Given the description of an element on the screen output the (x, y) to click on. 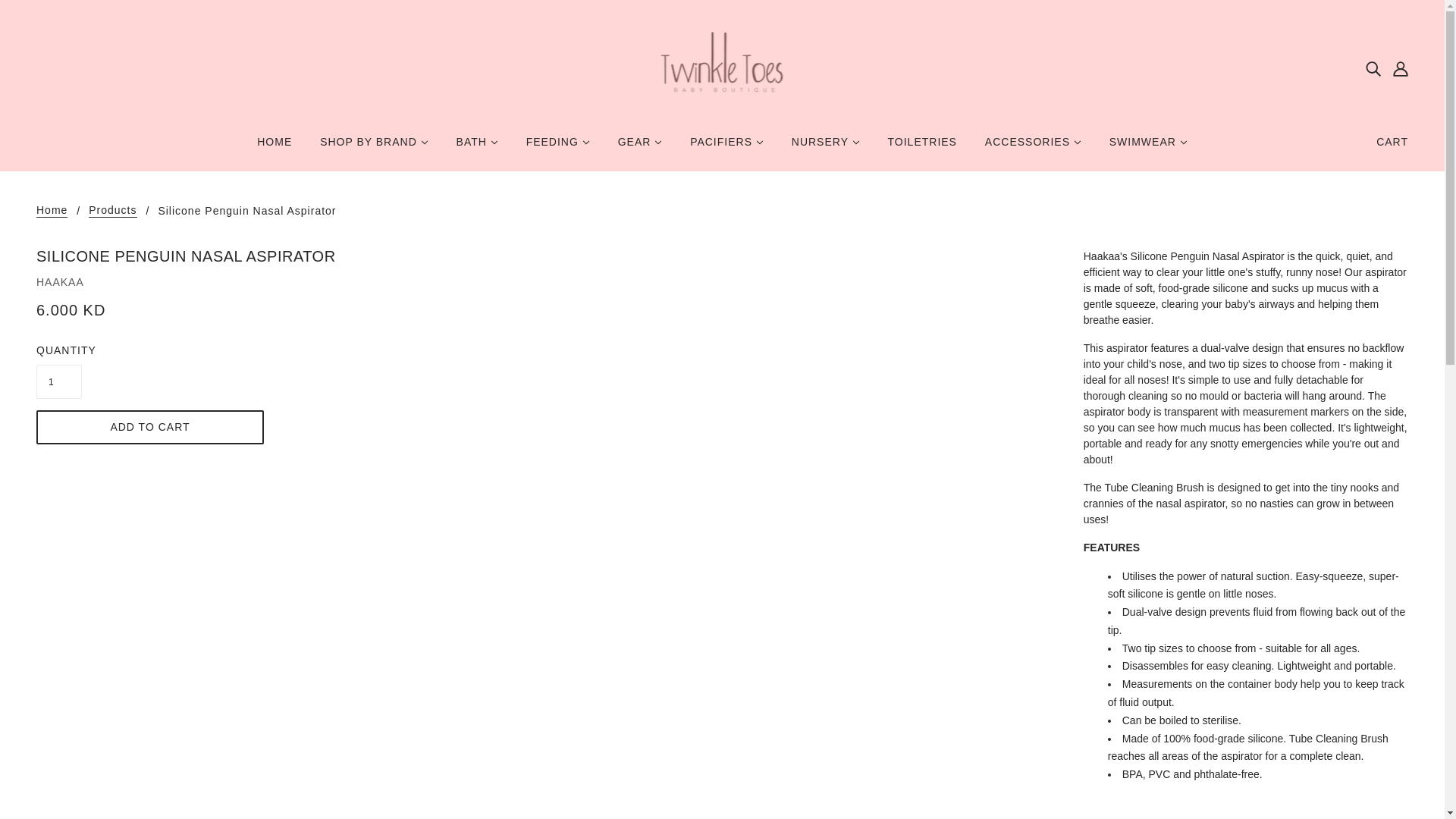
1 (58, 381)
Twinkle Toes Baby Boutique (722, 67)
